Given the description of an element on the screen output the (x, y) to click on. 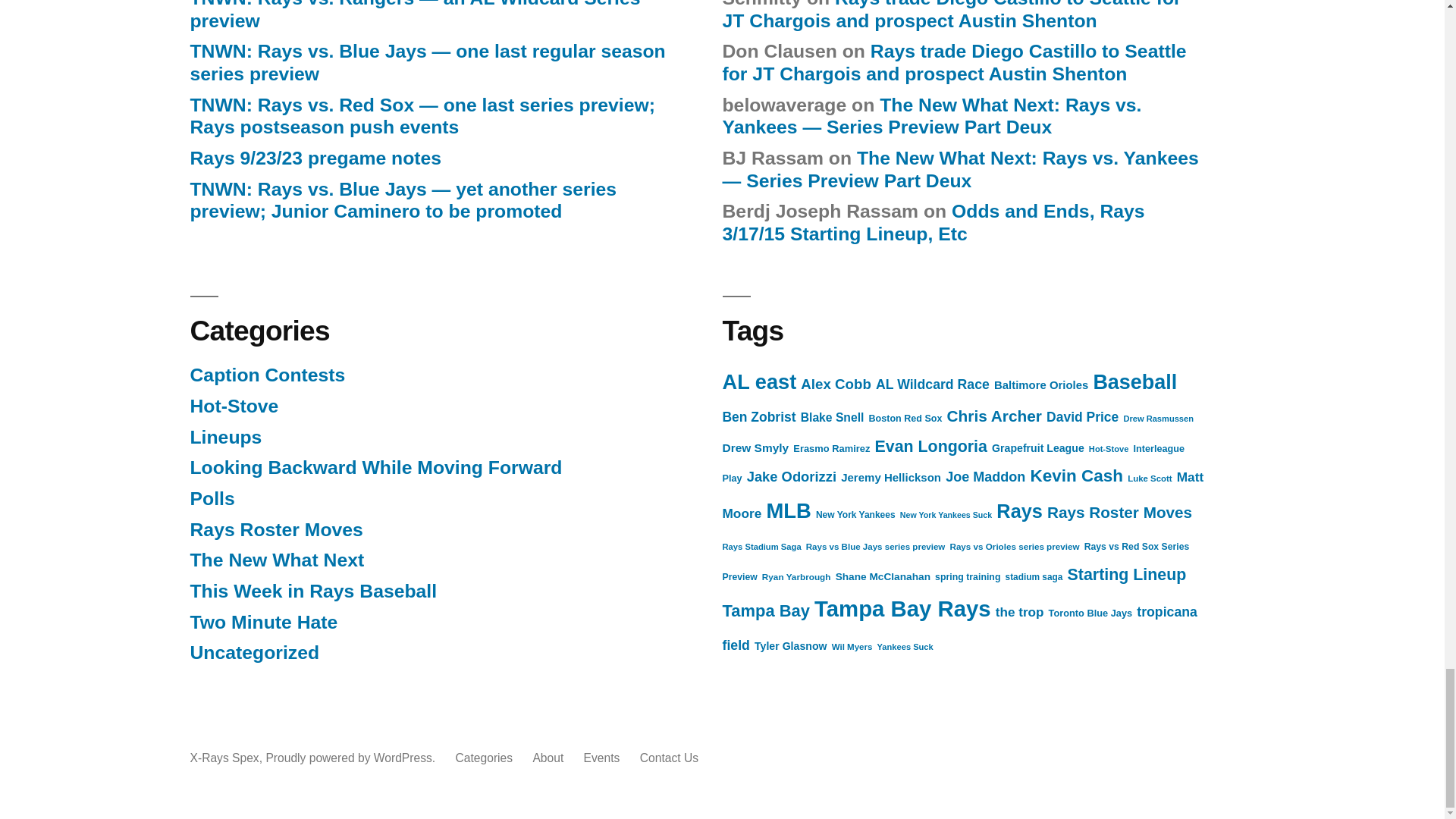
Series previews etc. (276, 559)
